Given the description of an element on the screen output the (x, y) to click on. 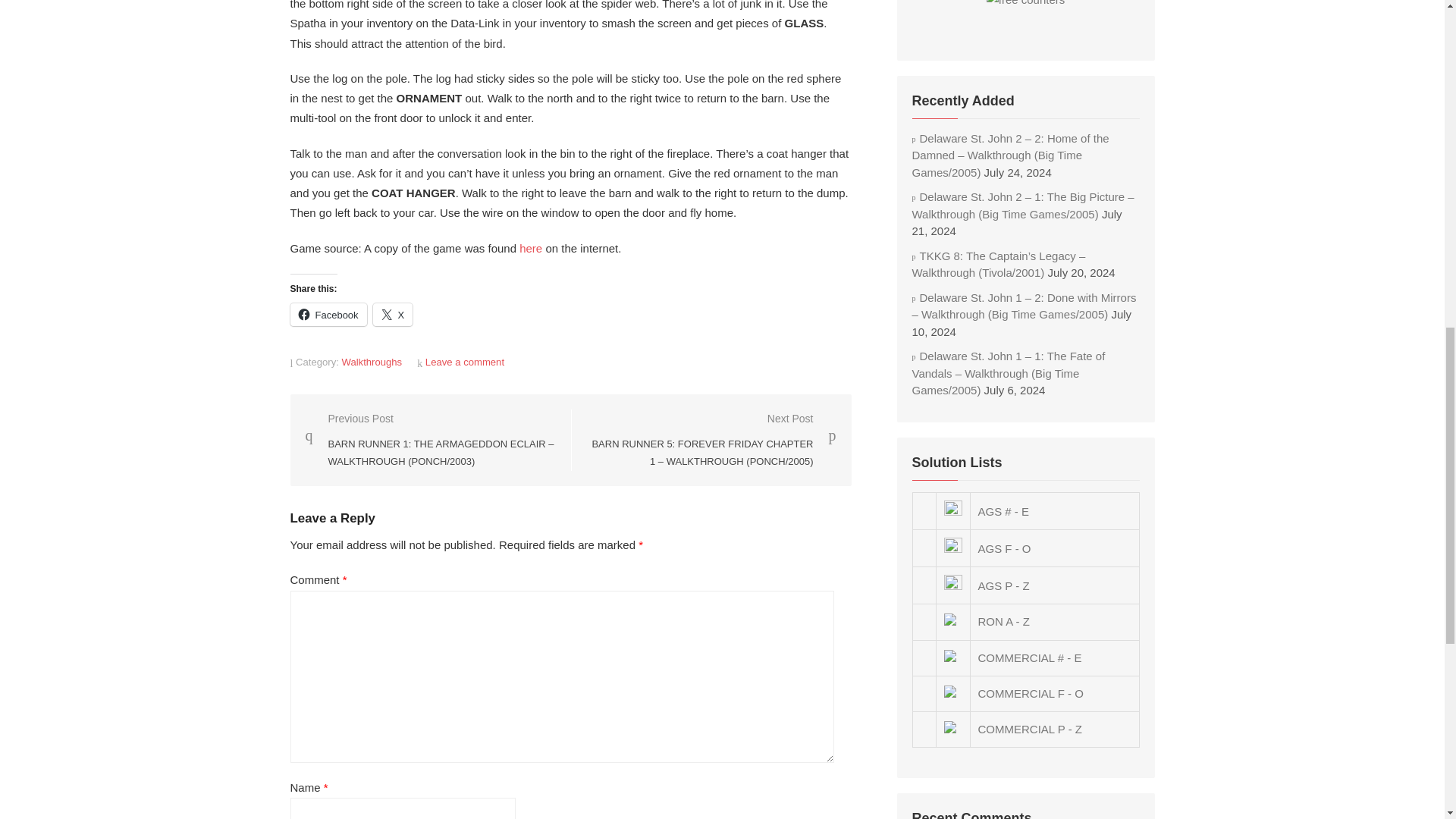
Play Barn Runner 4: The Prick Who Came In From The Cold (530, 247)
Click to share on Facebook (327, 314)
here (530, 247)
Walkthroughs (372, 361)
Facebook (327, 314)
X (392, 314)
Leave a comment (464, 361)
AGS P - Z (1003, 585)
AGS F - O (1004, 548)
Click to share on X (392, 314)
